Given the description of an element on the screen output the (x, y) to click on. 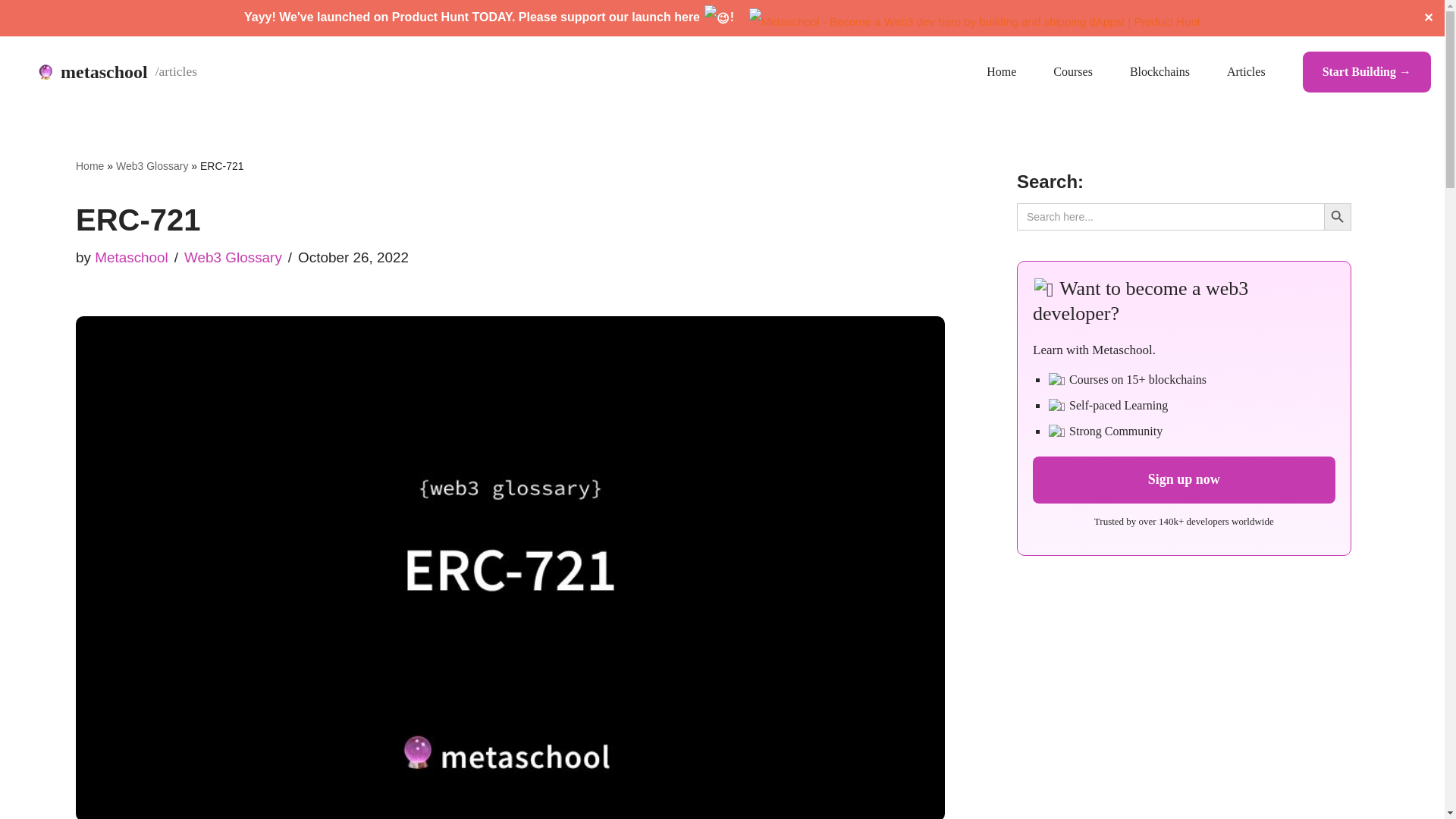
Search Button (1337, 216)
Posts by Metaschool (131, 256)
Blockchains (1159, 71)
Web3 Glossary (151, 165)
Home (993, 71)
Sign up now (1183, 479)
Articles (1246, 71)
Metaschool (131, 256)
metaschool (116, 71)
Home (89, 165)
Web3 Glossary (233, 256)
Skip to content (11, 68)
Courses (1072, 71)
